Given the description of an element on the screen output the (x, y) to click on. 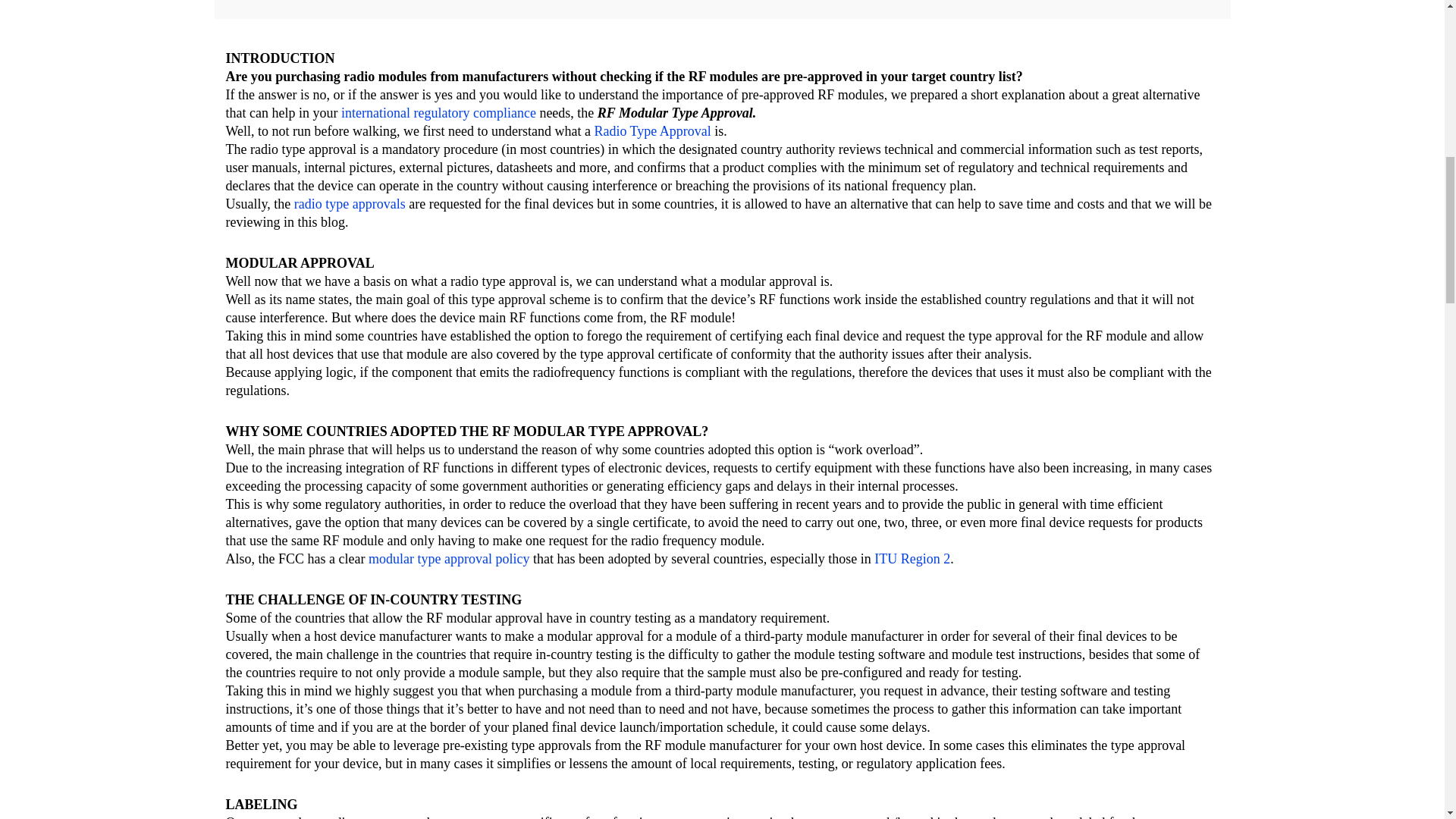
Radio Type Approval (652, 130)
international regulatory compliance (437, 112)
ITU Region 2 (912, 558)
radio type approvals (350, 203)
modular type approval policy (448, 558)
